Given the description of an element on the screen output the (x, y) to click on. 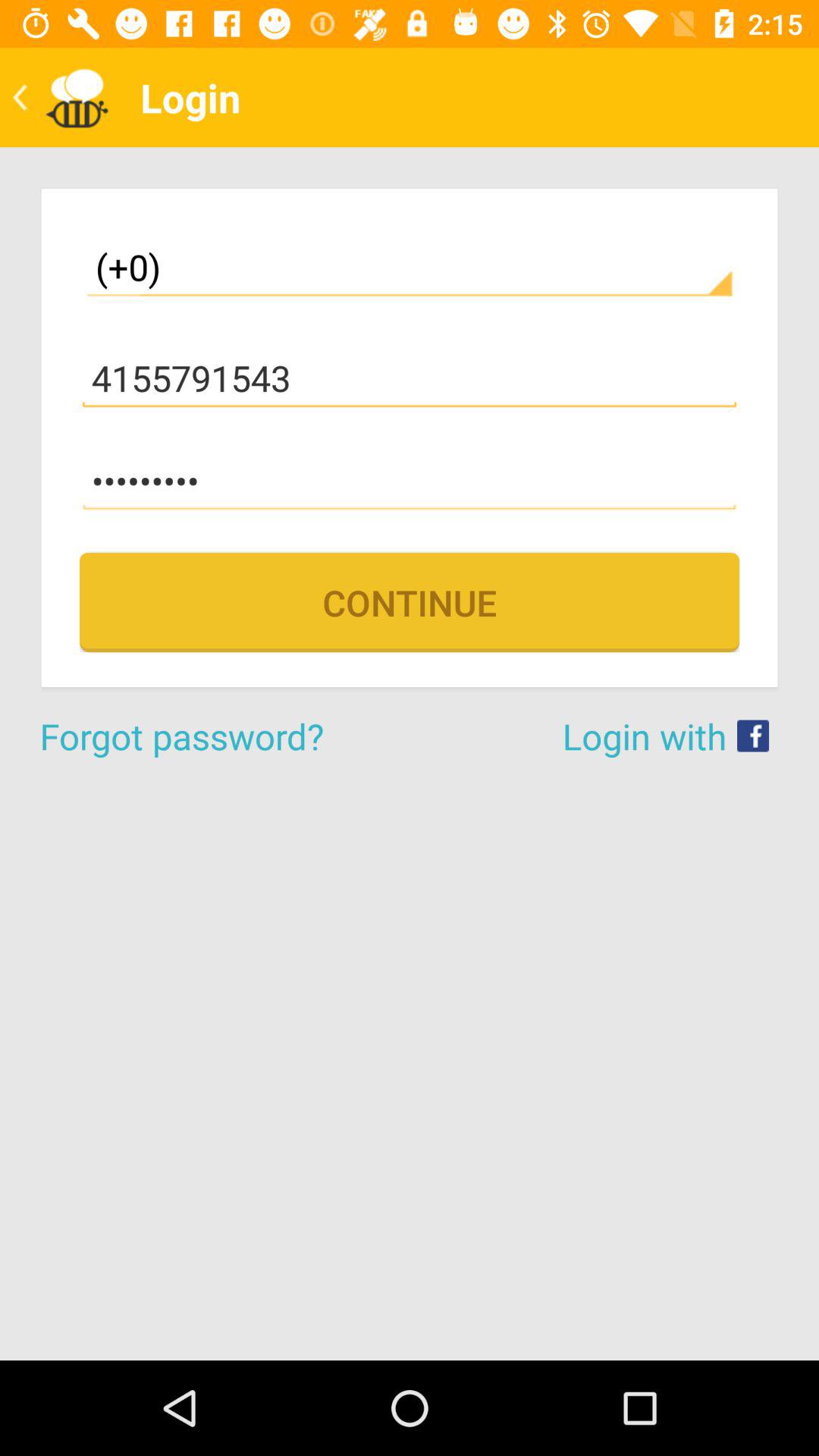
turn off the item above the 4155791543 item (409, 266)
